Given the description of an element on the screen output the (x, y) to click on. 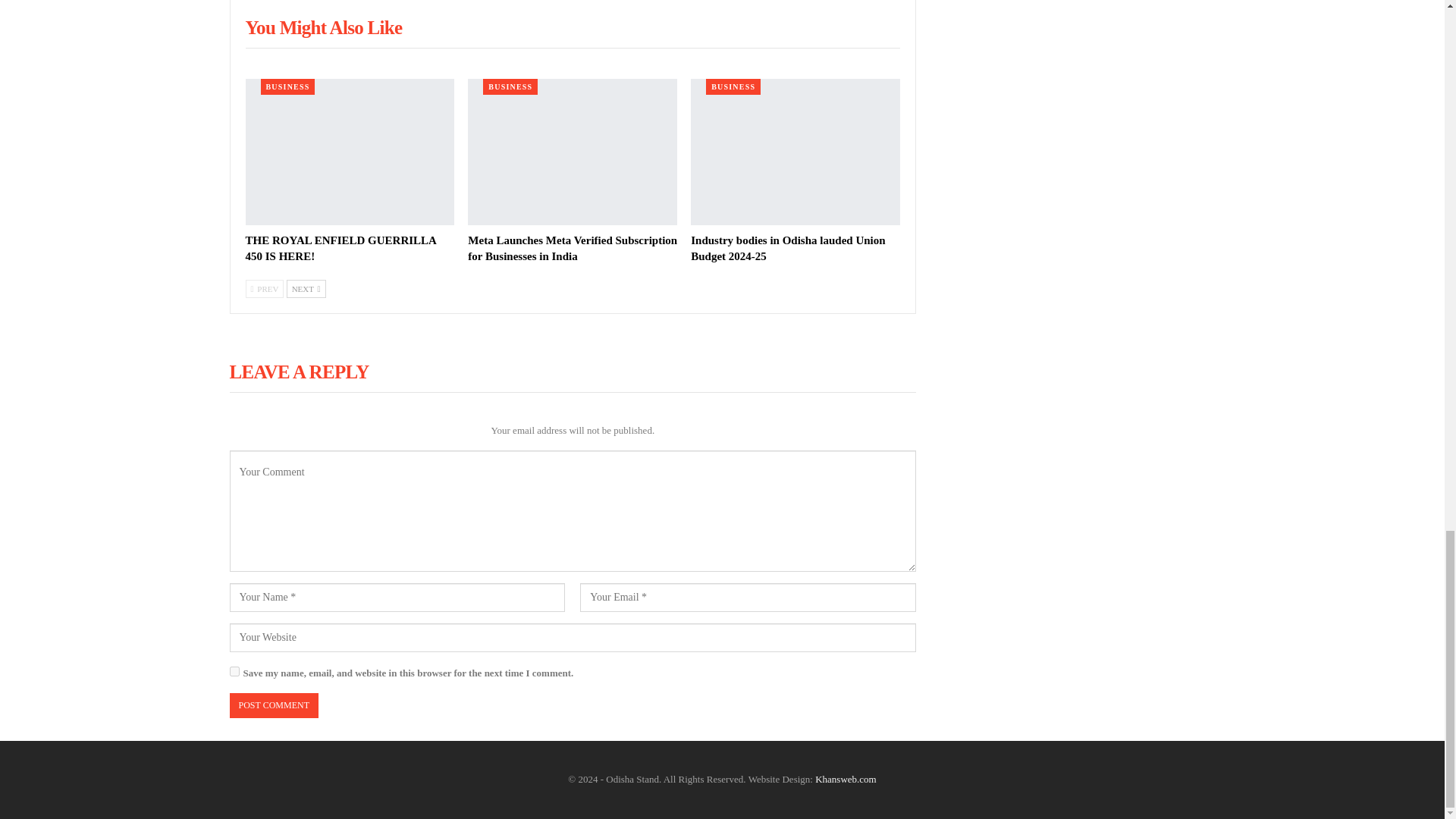
You Might Also Like (324, 29)
BUSINESS (510, 86)
THE ROYAL ENFIELD GUERRILLA 450 IS HERE! (341, 248)
BUSINESS (733, 86)
BUSINESS (287, 86)
Post Comment (272, 705)
THE ROYAL ENFIELD GUERRILLA 450 IS HERE! (350, 151)
yes (233, 671)
